Given the description of an element on the screen output the (x, y) to click on. 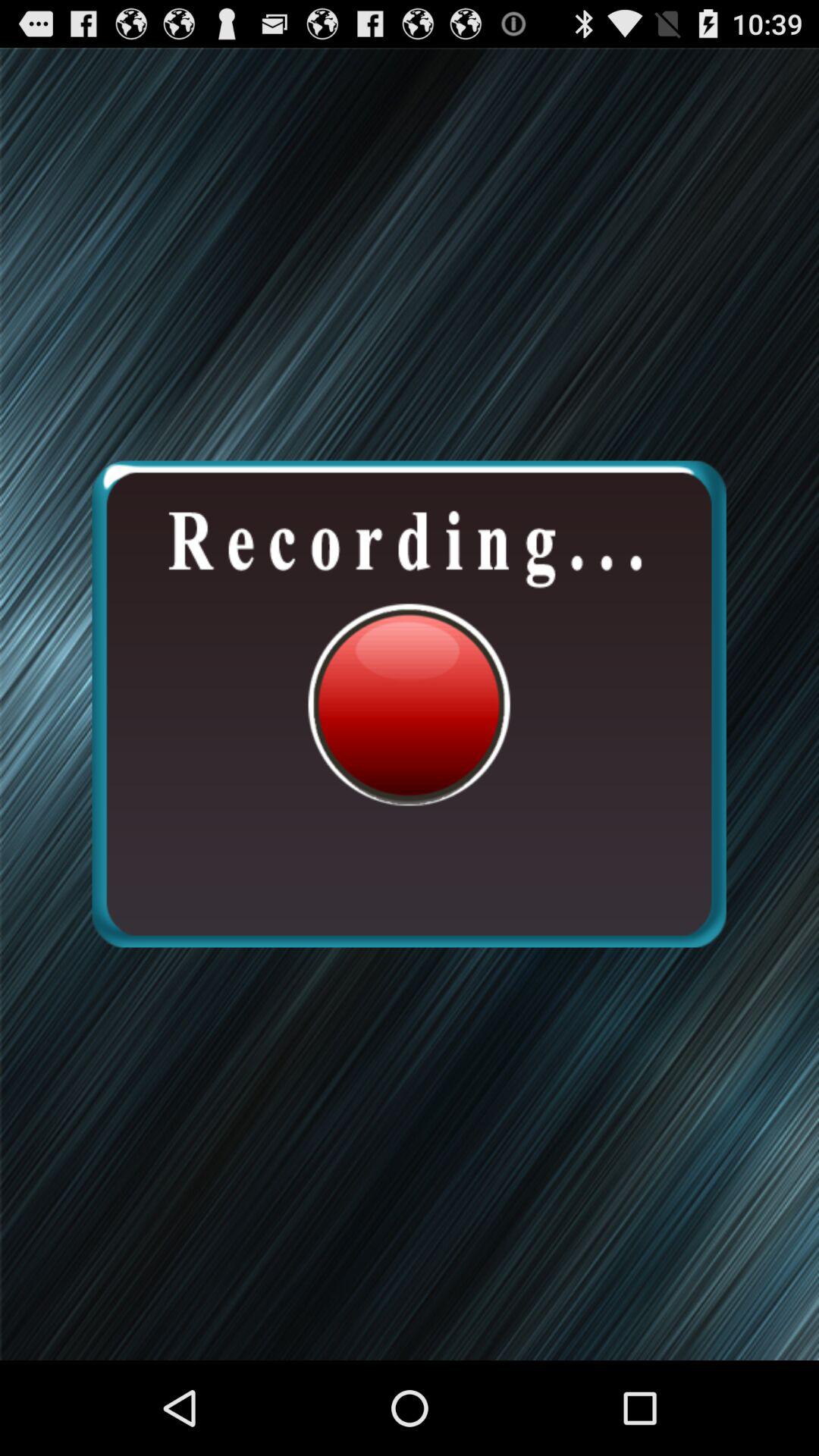
start voice recoed (409, 703)
